Given the description of an element on the screen output the (x, y) to click on. 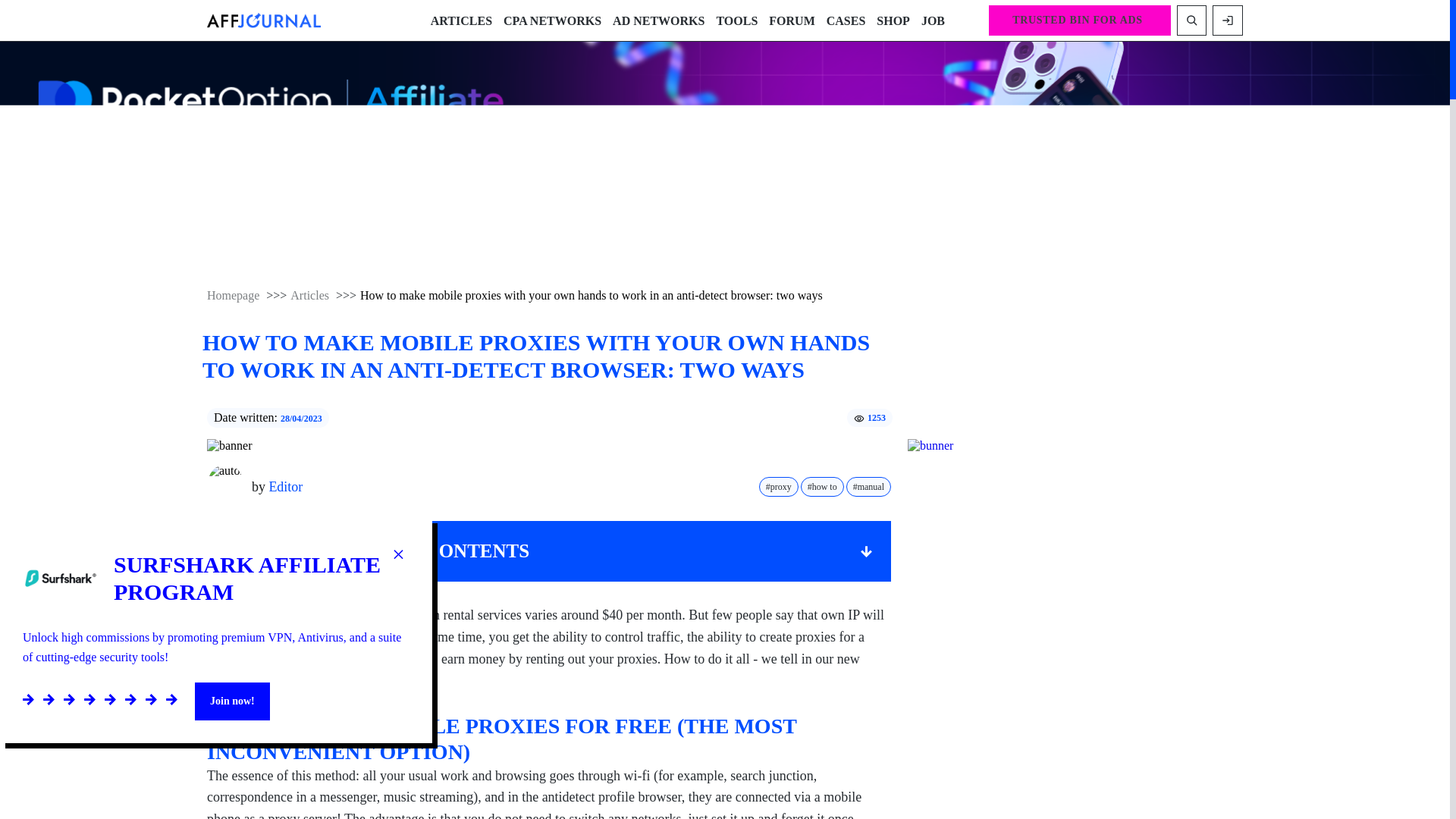
FORUM (790, 19)
CASES (846, 19)
Editor (284, 486)
TRUSTED BIN FOR ADS (1079, 20)
JOB (932, 19)
CPA NETWORKS (552, 19)
AD NETWORKS (658, 19)
Articles (309, 295)
ARTICLES (461, 19)
Homepage (232, 295)
